Given the description of an element on the screen output the (x, y) to click on. 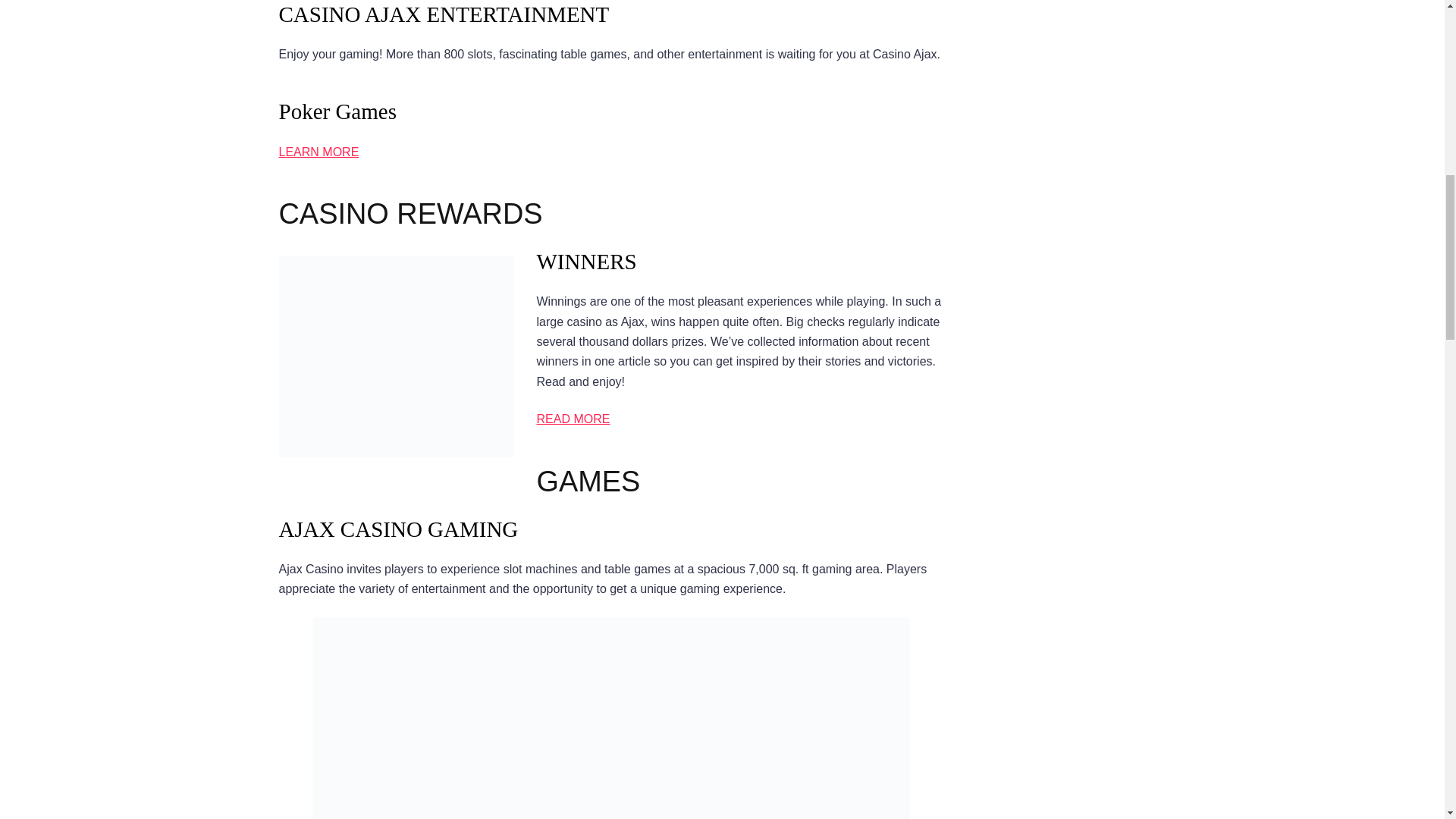
READ MORE (573, 418)
LEARN MORE (319, 151)
